Given the description of an element on the screen output the (x, y) to click on. 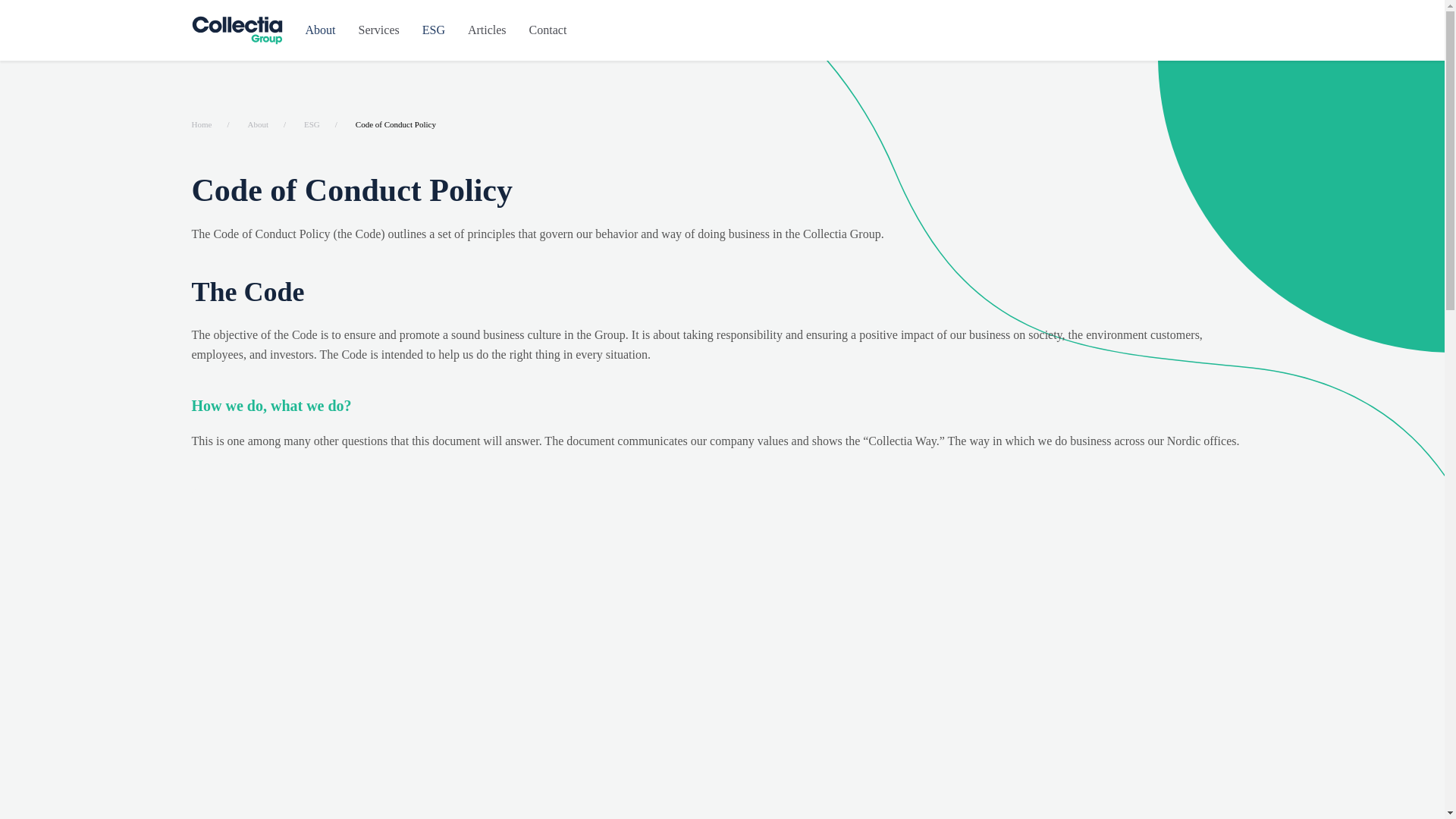
Home (200, 123)
ESG (312, 123)
About (257, 123)
